Given the description of an element on the screen output the (x, y) to click on. 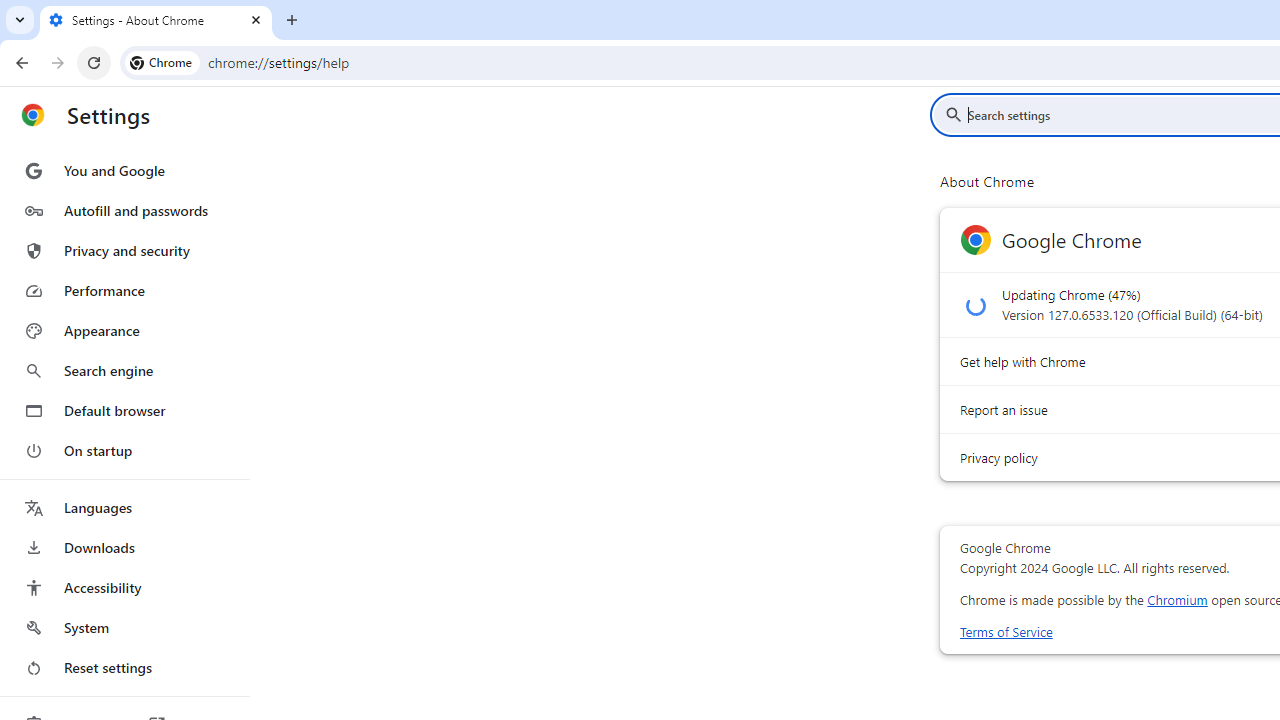
Accessibility (124, 587)
Appearance (124, 331)
Reset settings (124, 668)
Autofill and passwords (124, 210)
You and Google (124, 170)
Default browser (124, 410)
